Given the description of an element on the screen output the (x, y) to click on. 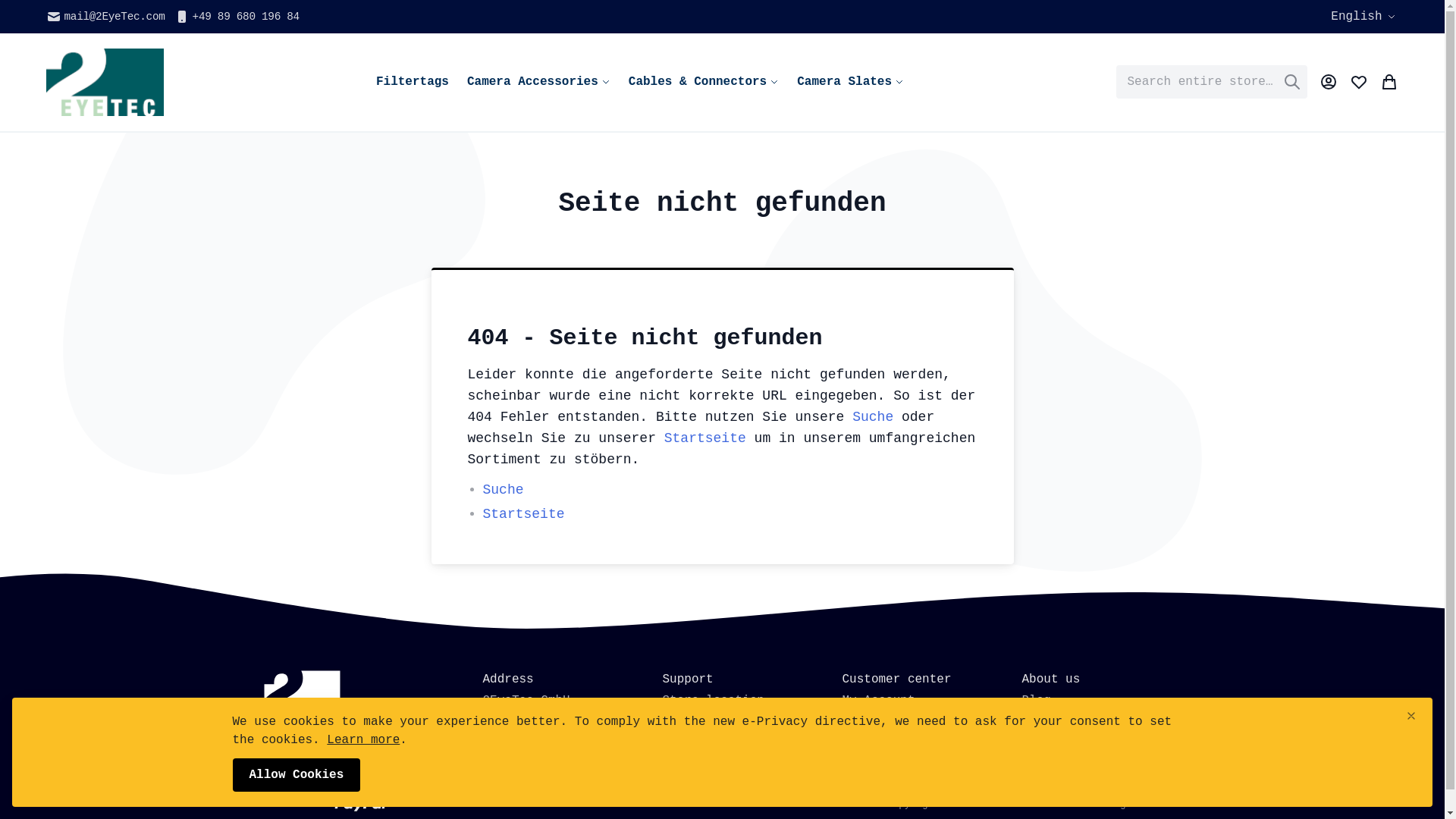
Privacy policy Element type: text (713, 718)
My Account Element type: hover (1328, 81)
Learn more Element type: text (362, 739)
+49 89 680 196 84 Element type: text (236, 16)
Terms of use Element type: text (705, 736)
Suche Element type: text (872, 416)
Store location Element type: text (713, 700)
Startseite Element type: text (705, 437)
Shipping Element type: text (1051, 736)
Blog Element type: text (1036, 700)
Search Element type: text (1292, 81)
mail@2EyeTec.com Element type: text (104, 16)
About Us Element type: text (1051, 718)
Suche Element type: text (502, 489)
Order Status Element type: text (884, 718)
My Account Element type: text (877, 700)
Advanced Search Element type: text (895, 755)
Camera Accessories Element type: text (538, 81)
Camera Slates Element type: text (850, 81)
Wish List Element type: hover (1358, 81)
Wishlist Element type: text (870, 736)
My Cart Element type: text (1389, 81)
Imprint Element type: text (1047, 755)
Allow Cookies Element type: text (296, 774)
Startseite Element type: text (523, 513)
Cables & Connectors Element type: text (703, 81)
Filtertags Element type: text (412, 81)
